Given the description of an element on the screen output the (x, y) to click on. 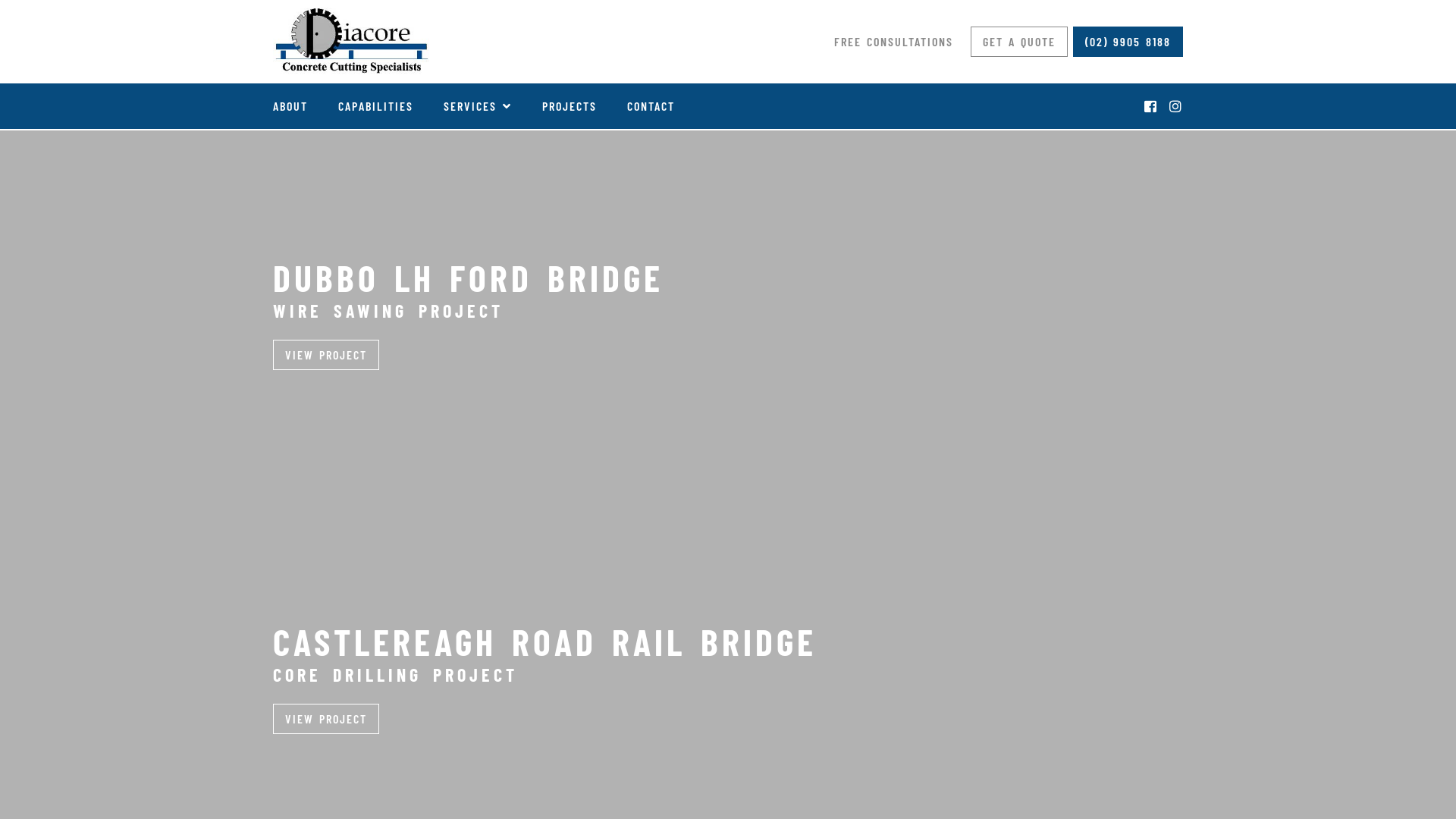
PROJECTS Element type: text (569, 106)
ABOUT Element type: text (290, 106)
CAPABILITIES Element type: text (375, 106)
(02) 9905 8188 Element type: text (1128, 41)
VIEW PROJECT Element type: text (326, 354)
VIEW PROJECT Element type: text (326, 718)
FREE CONSULTATIONS Element type: text (893, 41)
CONTACT Element type: text (650, 106)
SERVICES Element type: text (477, 106)
GET A QUOTE Element type: text (1018, 41)
